Given the description of an element on the screen output the (x, y) to click on. 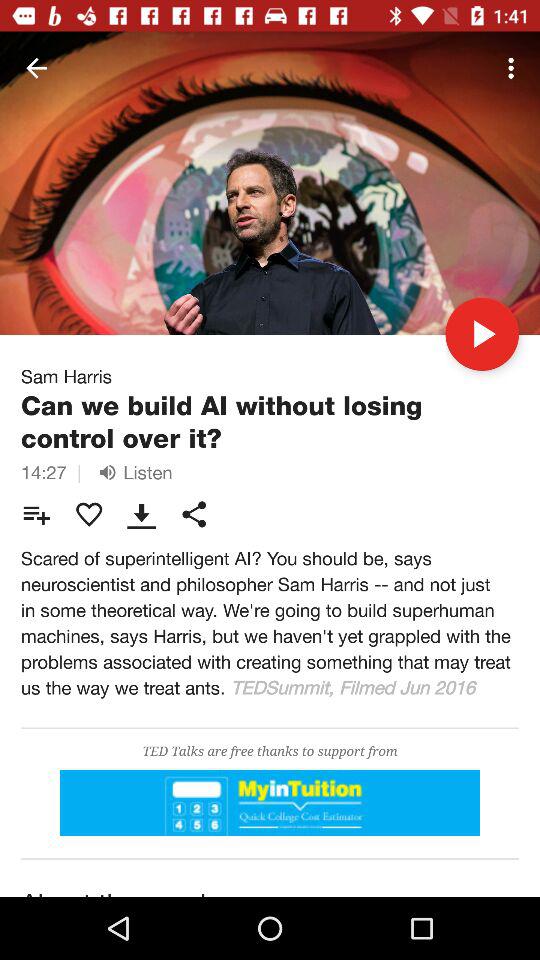
add install (270, 802)
